Given the description of an element on the screen output the (x, y) to click on. 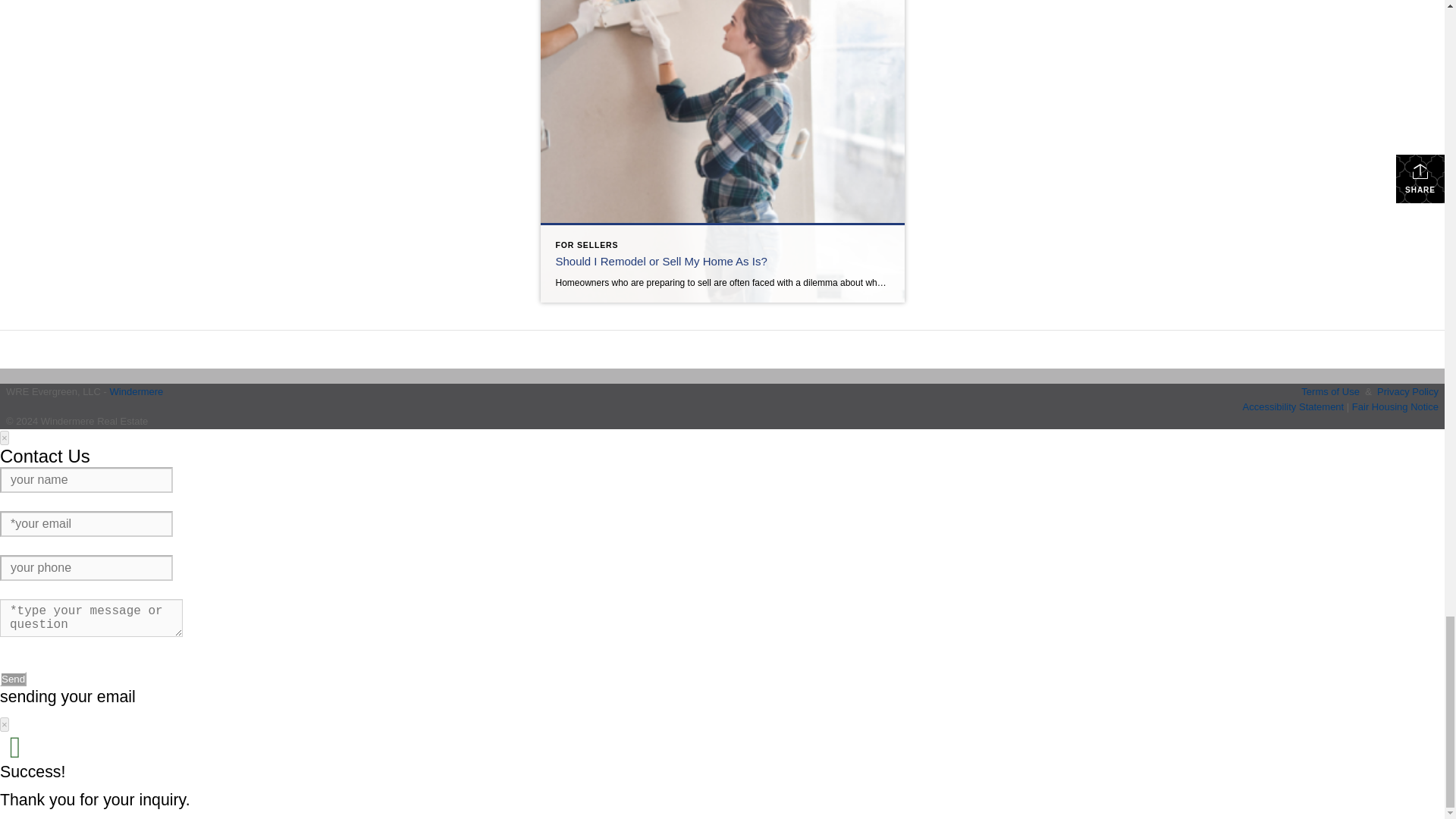
Windermere (136, 391)
